Given the description of an element on the screen output the (x, y) to click on. 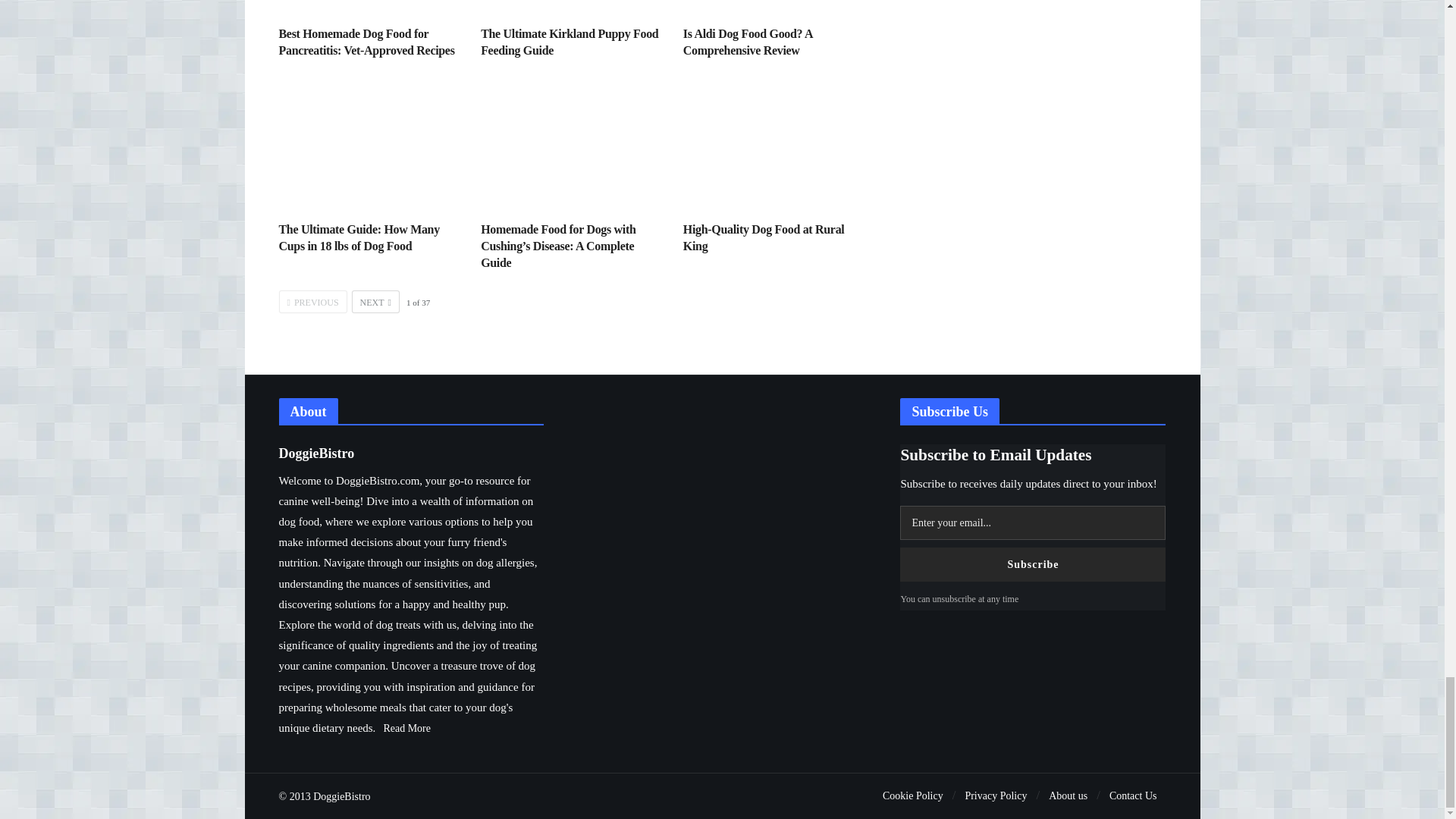
High-Quality Dog Food at Rural King (763, 237)
The Ultimate Guide: How Many Cups in 18 lbs of Dog Food (368, 145)
Is Aldi Dog Food Good? A Comprehensive Review (747, 41)
PREVIOUS (313, 301)
The Ultimate Guide: How Many Cups in 18 lbs of Dog Food (359, 237)
The Ultimate Kirkland Puppy Food Feeding Guide (569, 41)
Is Aldi Dog Food Good? A Comprehensive Review (772, 7)
The Ultimate Kirkland Puppy Food Feeding Guide (569, 41)
High-Quality Dog Food at Rural King (772, 145)
Previous (313, 301)
NEXT (375, 301)
High-Quality Dog Food at Rural King (763, 237)
